Given the description of an element on the screen output the (x, y) to click on. 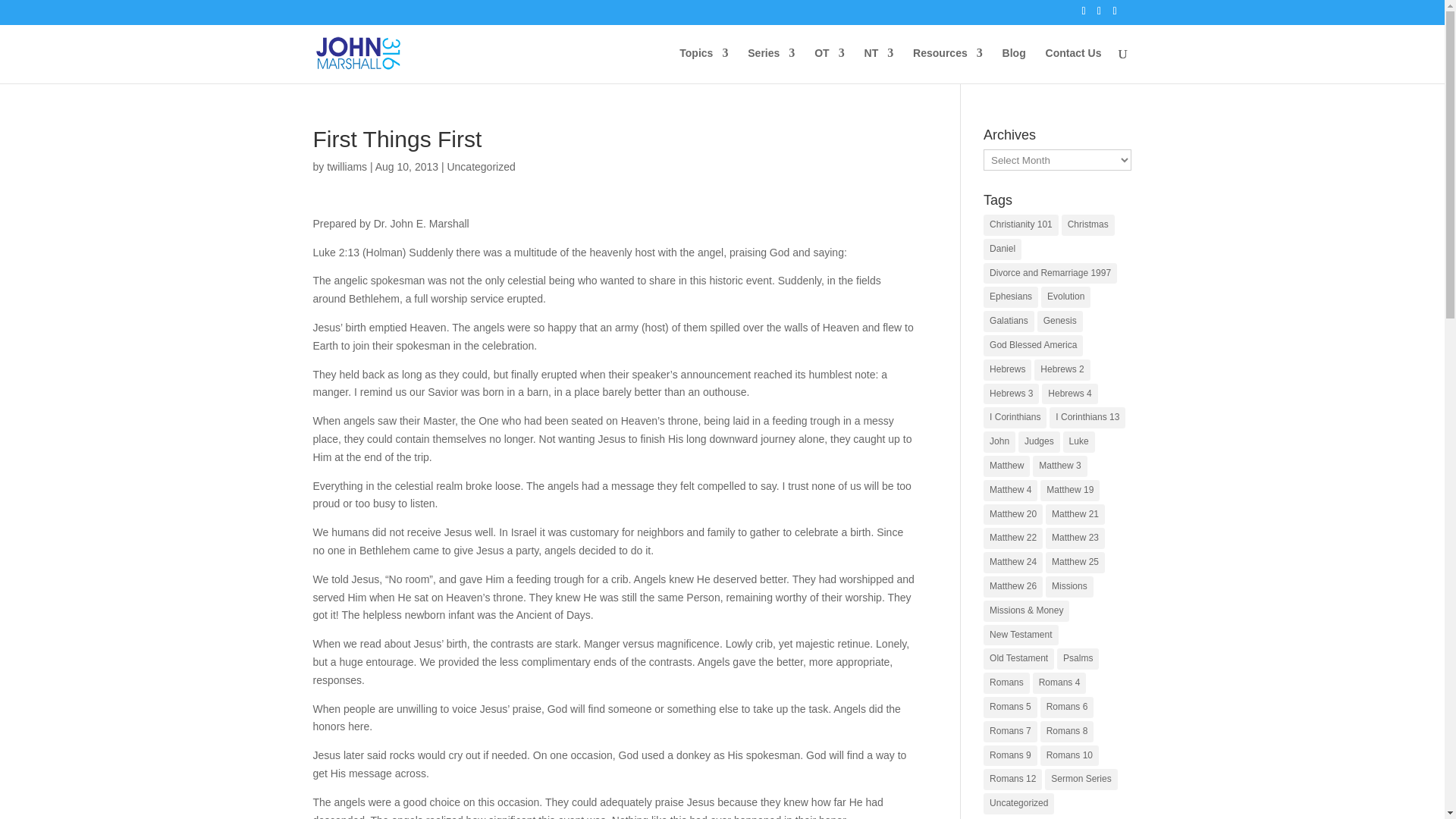
Series (771, 65)
Resources (947, 65)
Contact Us (1073, 65)
Posts by twilliams (346, 166)
Topics (703, 65)
